Given the description of an element on the screen output the (x, y) to click on. 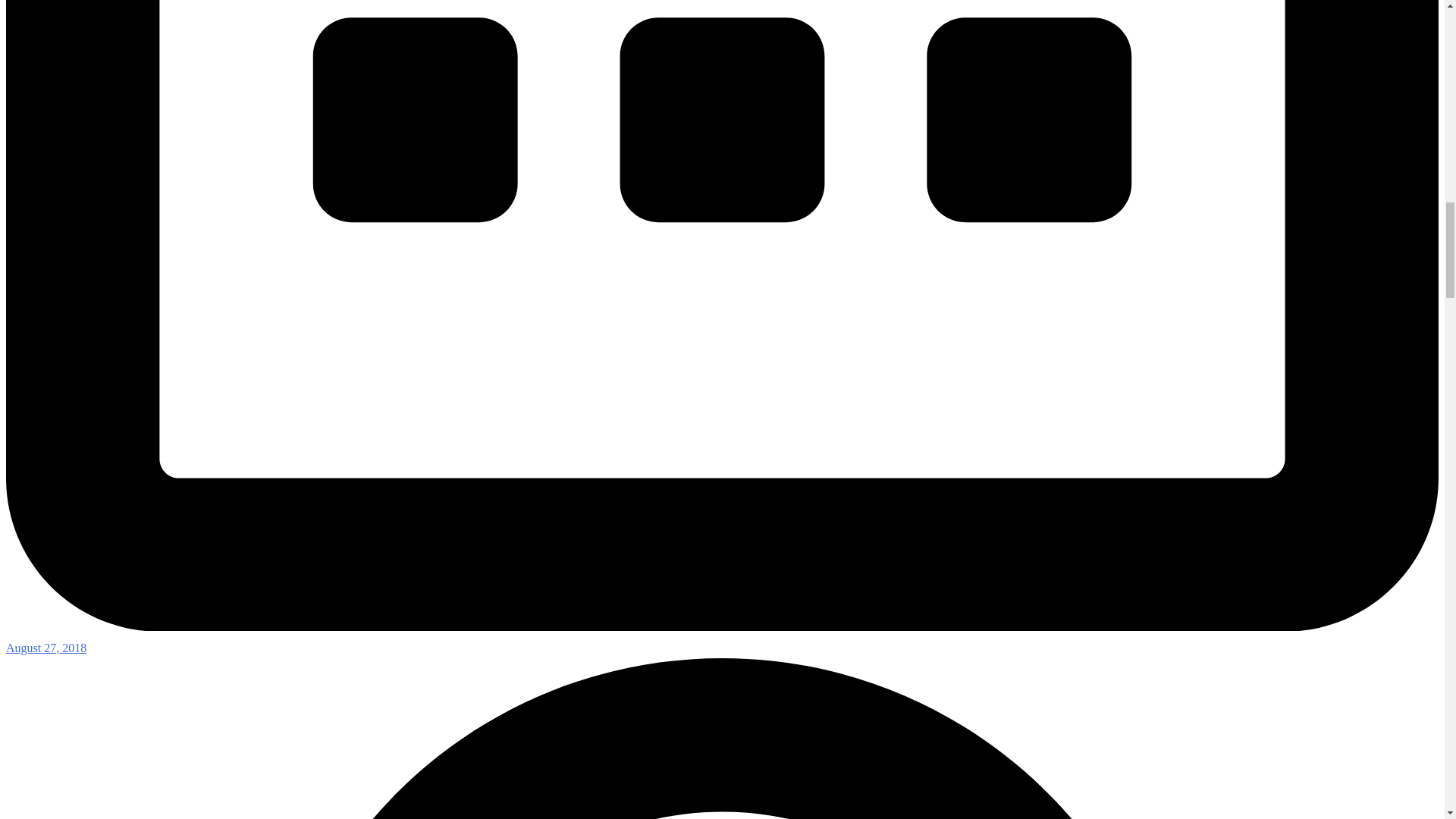
August 27, 2018 (45, 647)
